Given the description of an element on the screen output the (x, y) to click on. 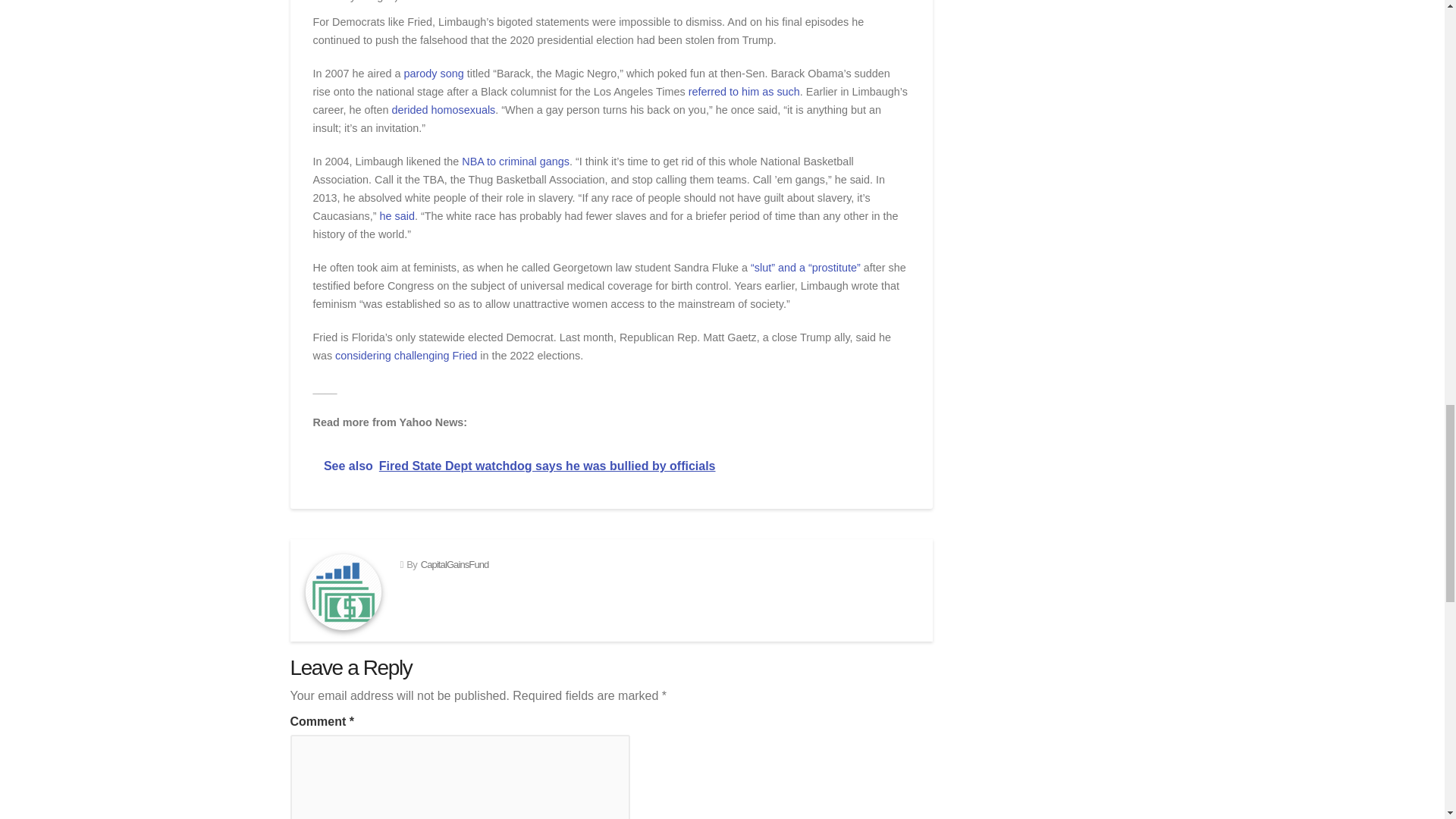
referred to him as such (743, 91)
NBA to criminal gangs (515, 161)
parody song (435, 73)
he said (395, 215)
CapitalGainsFund (454, 564)
considering challenging Fried (405, 355)
derided homosexuals (443, 110)
